Given the description of an element on the screen output the (x, y) to click on. 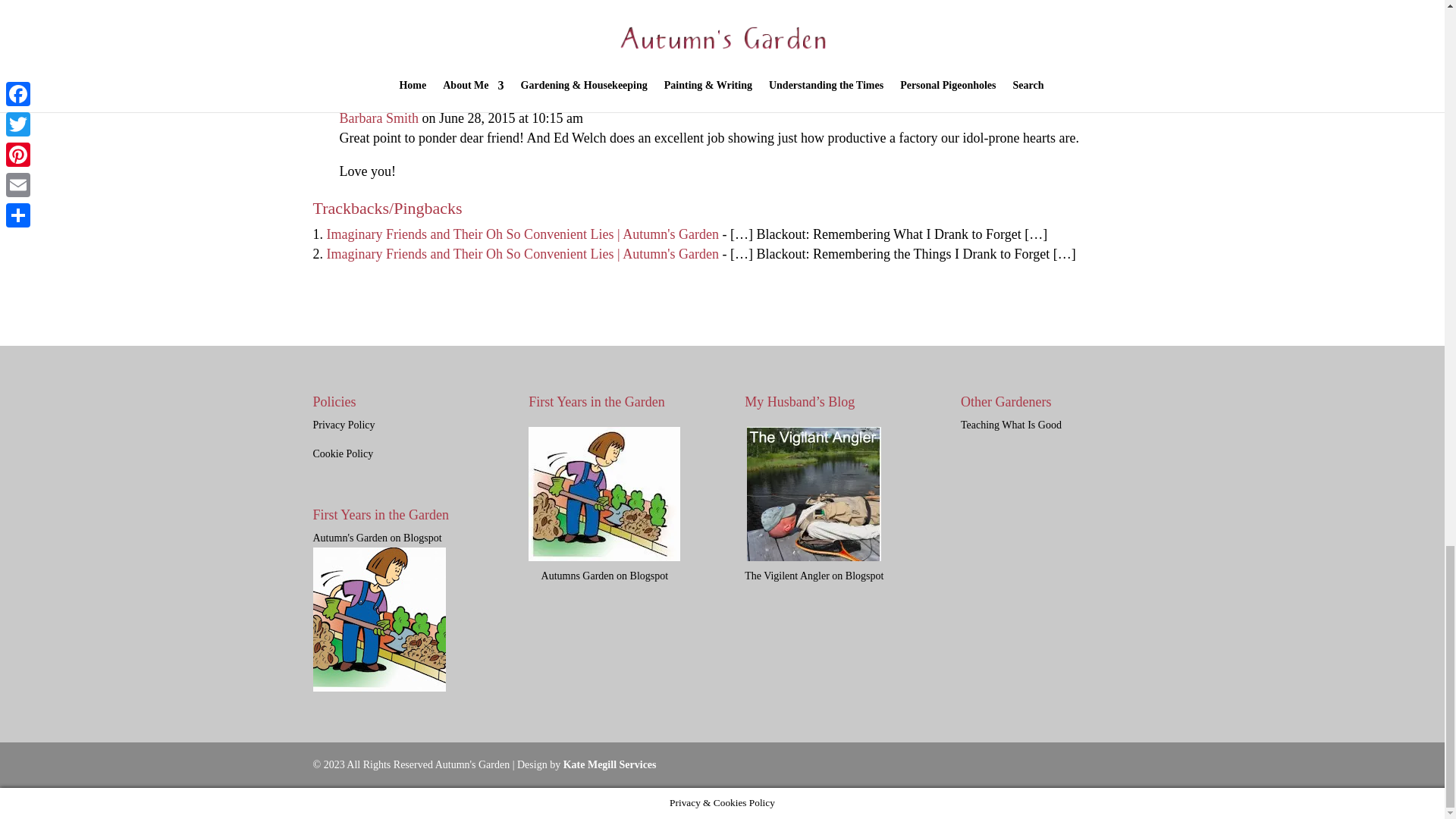
Kate Megill Services (609, 764)
Autumns Garden on Blogspot (603, 566)
Teaching What Is Good (1010, 424)
Barbara Smith (379, 118)
Privacy Policy (343, 424)
The Vigilent Angler on Blogspot (813, 568)
Cookie Policy (342, 453)
Autumn's Garden on Blogspot (379, 612)
